Given the description of an element on the screen output the (x, y) to click on. 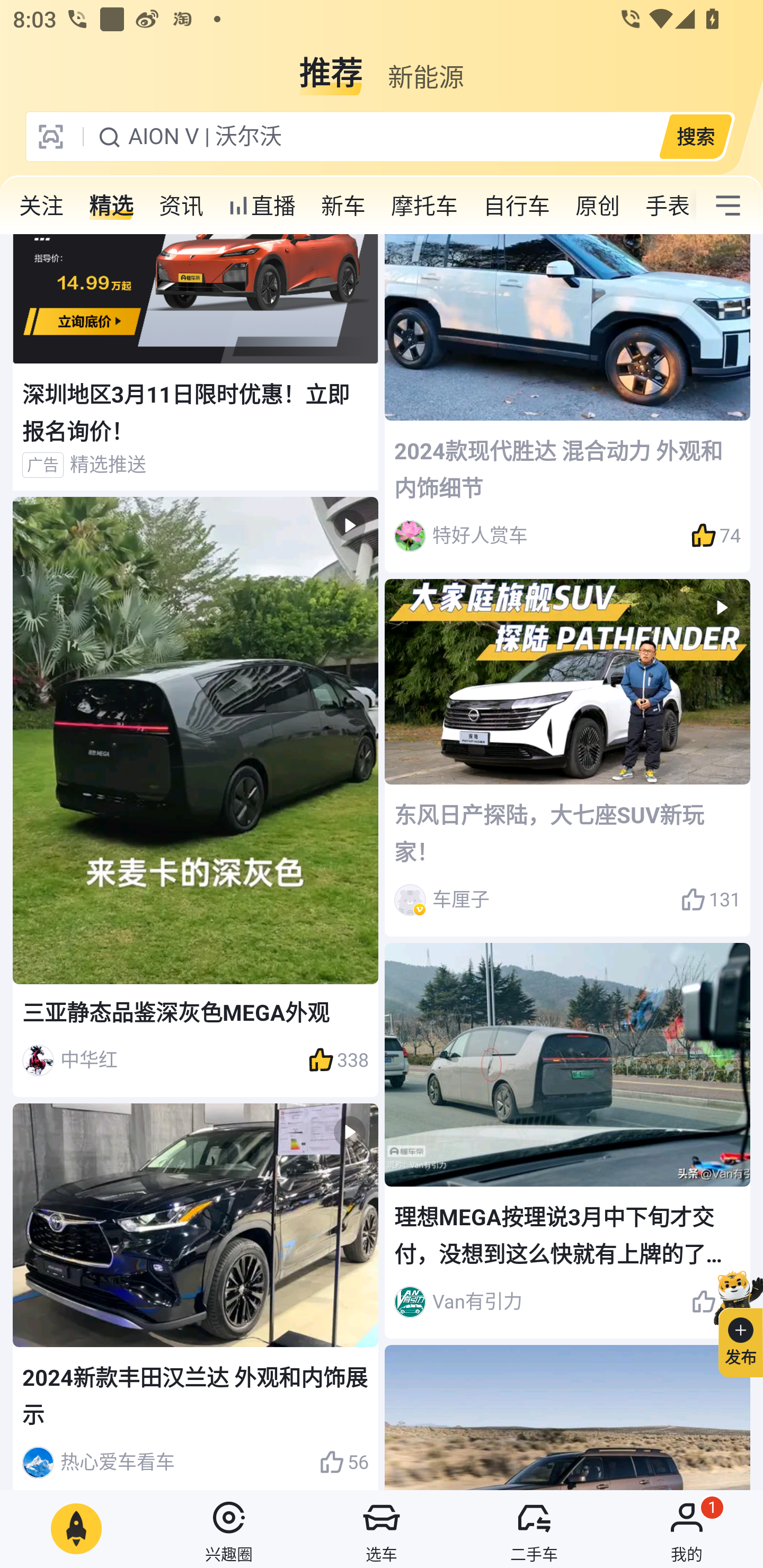
推荐 (330, 65)
新能源 (425, 65)
搜索 (695, 136)
关注 (41, 205)
精选 (111, 205)
资讯 (180, 205)
直播 (261, 205)
新车 (343, 205)
摩托车 (424, 205)
自行车 (516, 205)
原创 (597, 205)
手表 (663, 205)
 (727, 205)
深圳地区3月11日限时优惠！立即报名询价！ 广告 精选推送 (195, 361)
2024款现代胜达 混合动力 外观和内饰细节 特好人赏车 74 (567, 402)
 三亚静态品鉴深灰色MEGA外观 中华红 338 (195, 797)
74 (715, 535)
 东风日产探陆，大七座SUV新玩家！ 车厘子 131 (567, 757)
131 (710, 899)
338 (338, 1060)
 2024新款丰田汉兰达 外观和内饰展示 热心爱车看车 56 (195, 1296)
发布 (732, 1321)
22 (715, 1301)
56 (343, 1462)
 兴趣圈 (228, 1528)
 选车 (381, 1528)
 二手车 (533, 1528)
 我的 (686, 1528)
